Given the description of an element on the screen output the (x, y) to click on. 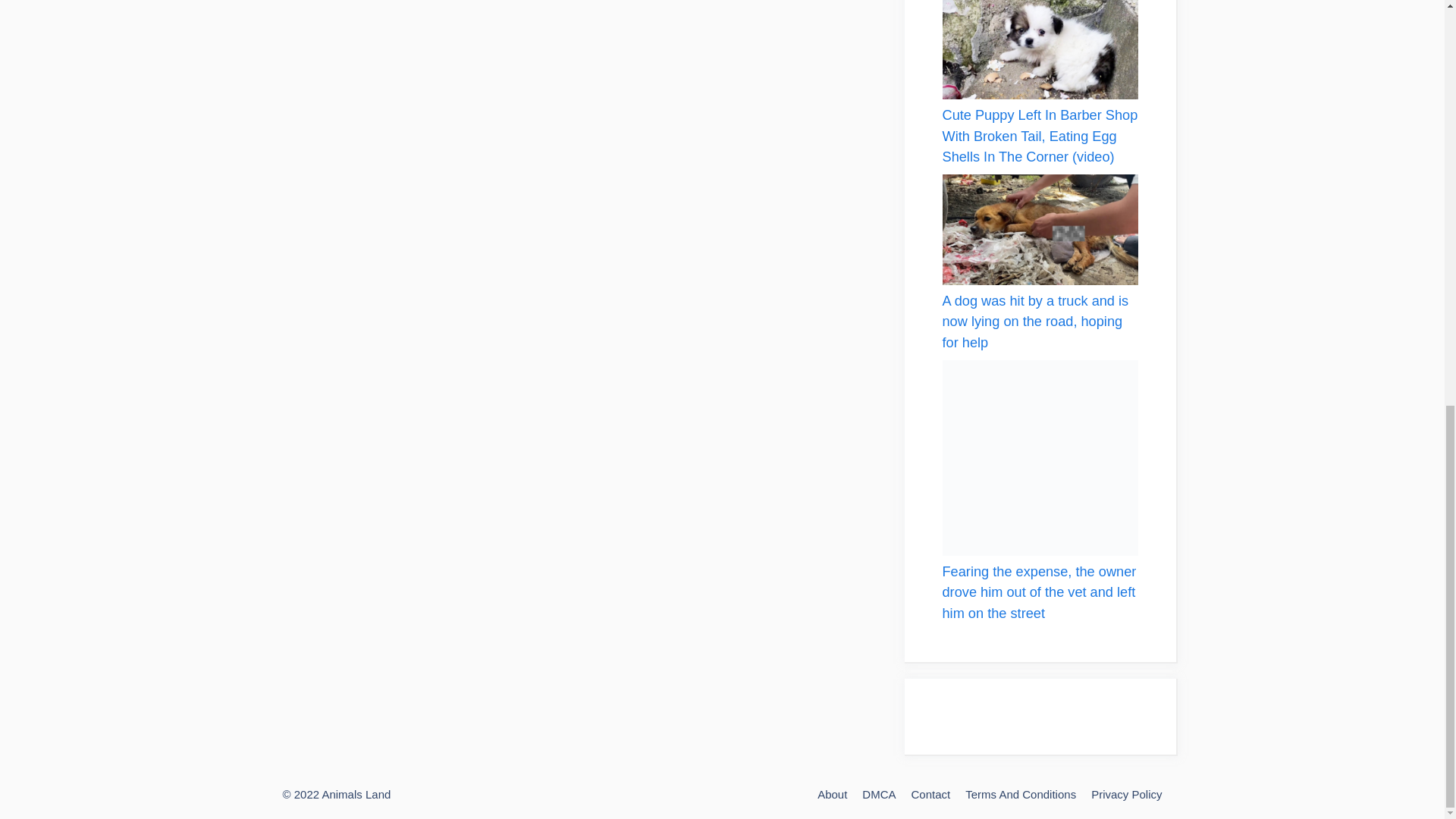
About (831, 793)
Terms And Conditions (1020, 793)
DMCA (878, 793)
Privacy Policy (1125, 793)
Contact (930, 793)
